Given the description of an element on the screen output the (x, y) to click on. 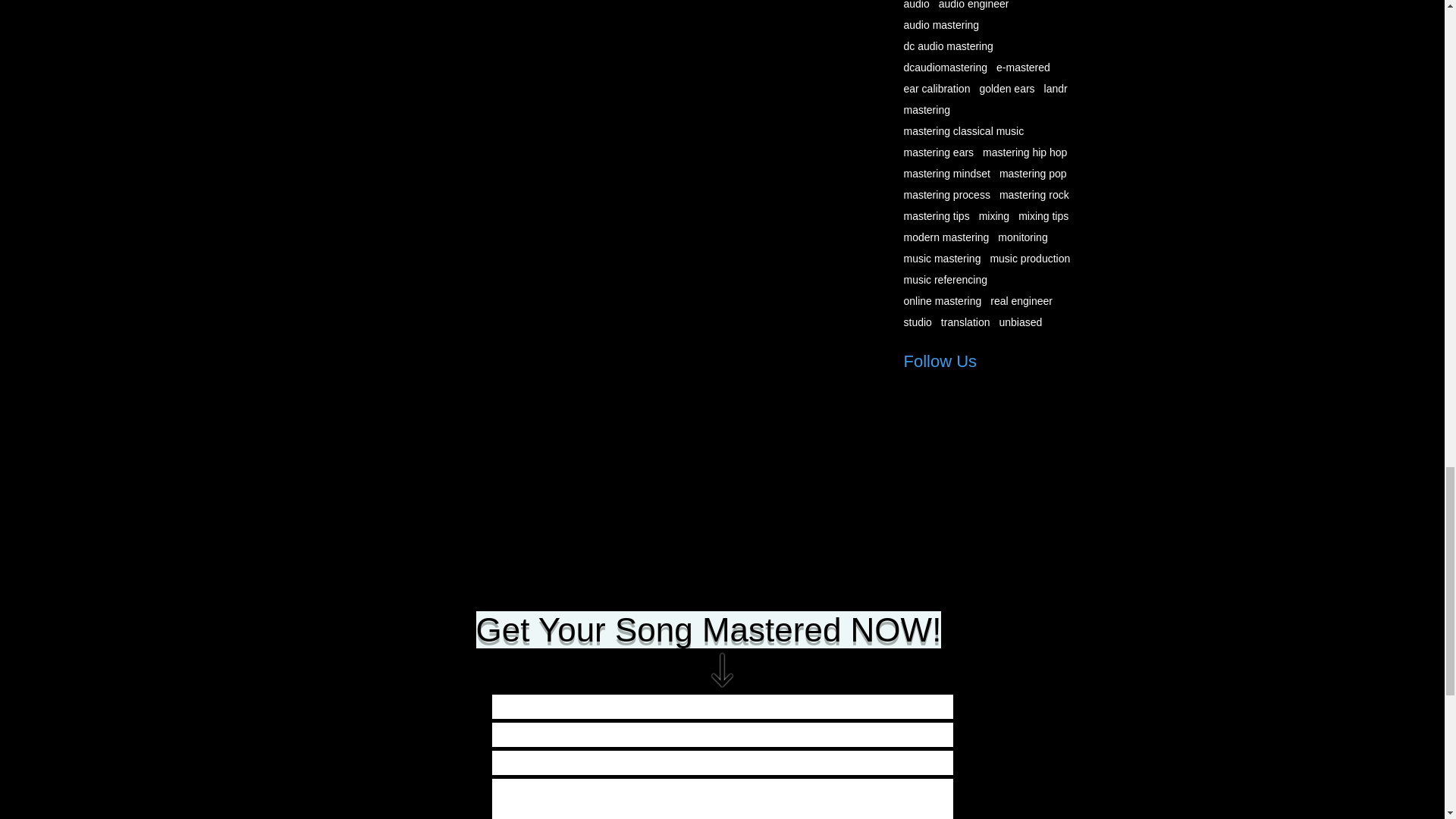
e-mastered (1022, 67)
audio mastering (941, 24)
dcaudiomastering (946, 67)
audio (917, 4)
audio engineer (974, 4)
golden ears (1005, 88)
mastering (927, 110)
landr (1055, 88)
dc audio mastering (948, 46)
ear calibration (937, 88)
